Given the description of an element on the screen output the (x, y) to click on. 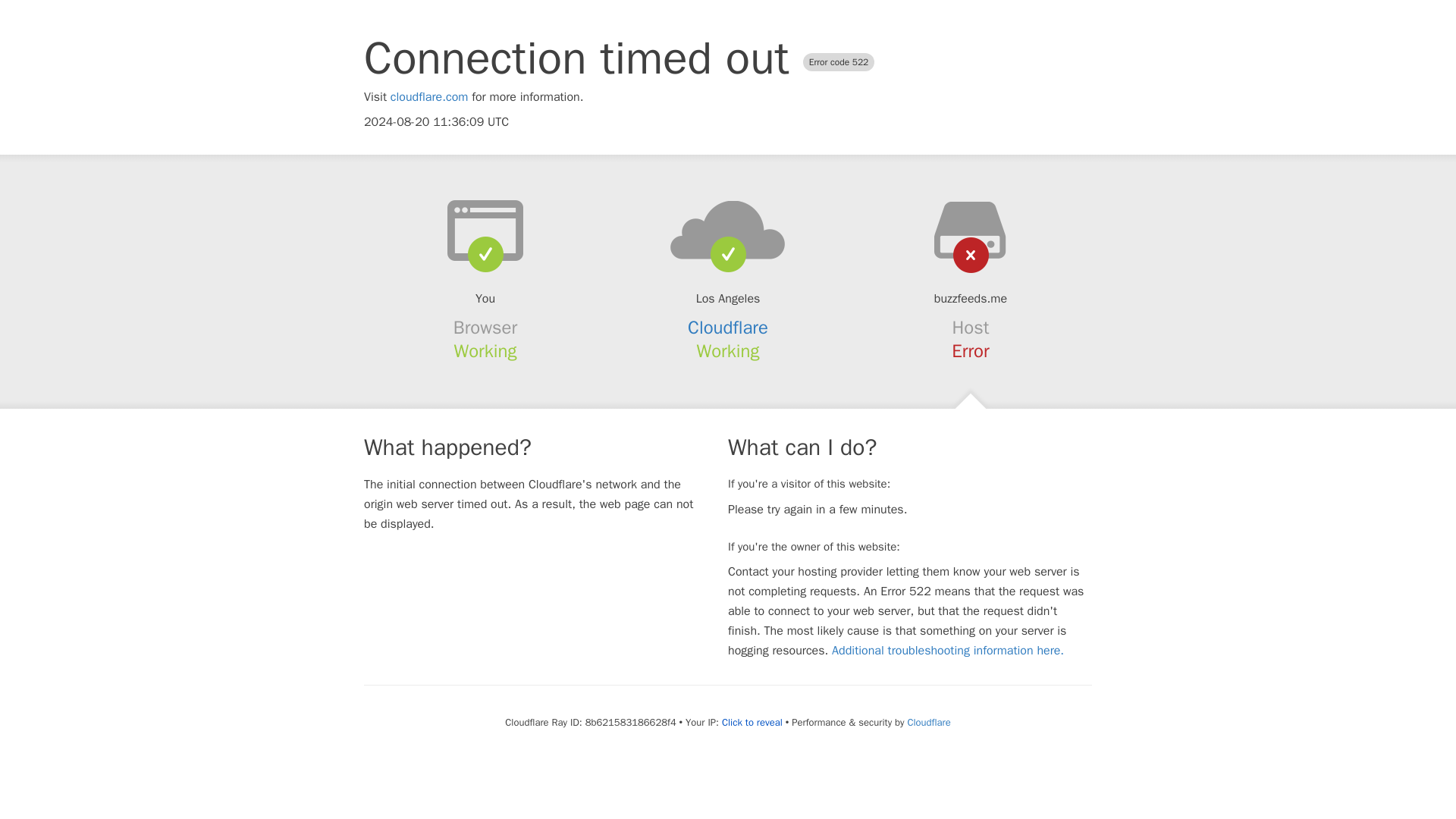
Cloudflare (928, 721)
Additional troubleshooting information here. (947, 650)
cloudflare.com (429, 96)
Click to reveal (752, 722)
Cloudflare (727, 327)
